Given the description of an element on the screen output the (x, y) to click on. 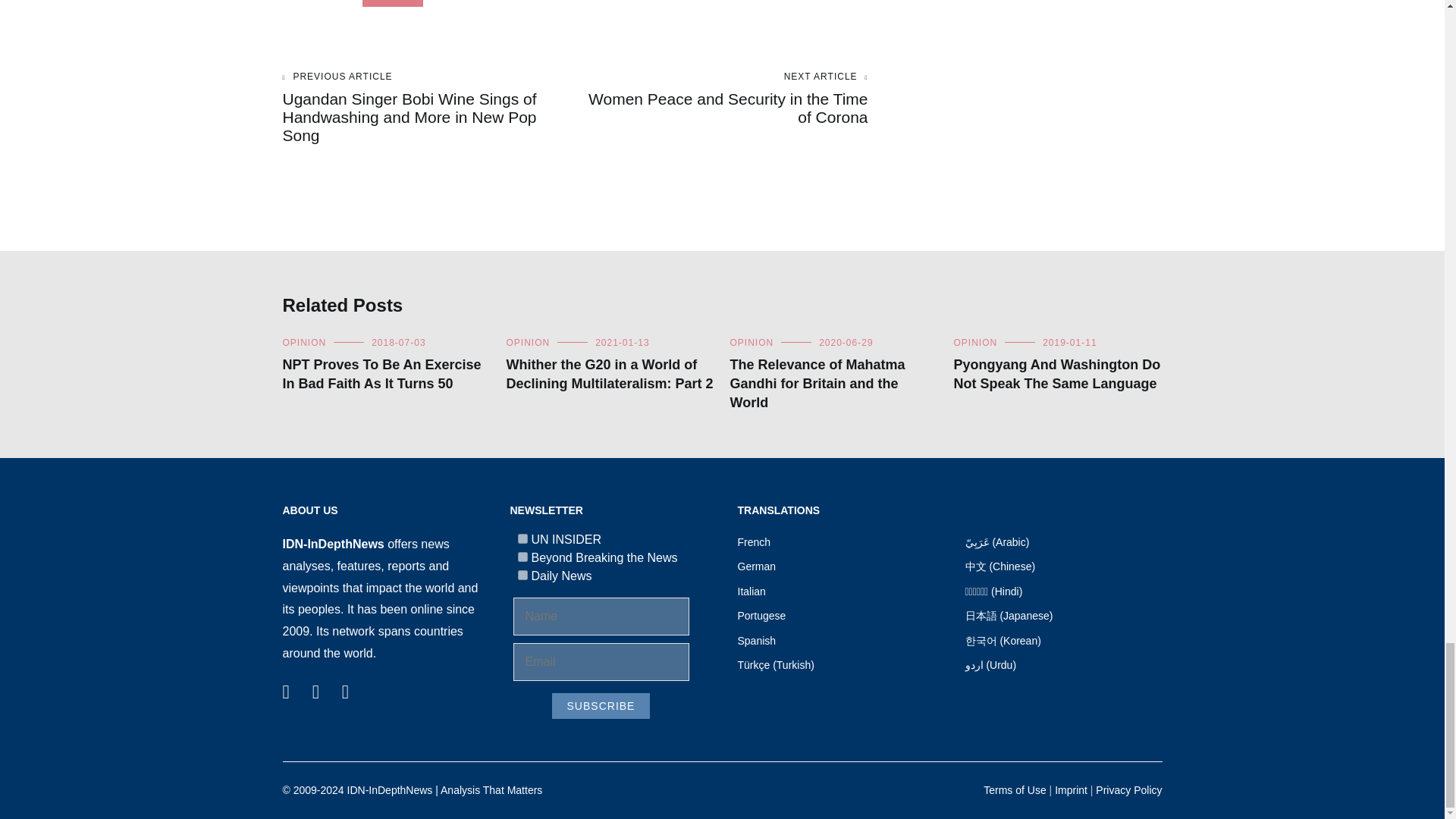
Terms of Use (1014, 789)
Imprint (1070, 789)
10 (521, 574)
7 (521, 538)
9 (521, 556)
